Given the description of an element on the screen output the (x, y) to click on. 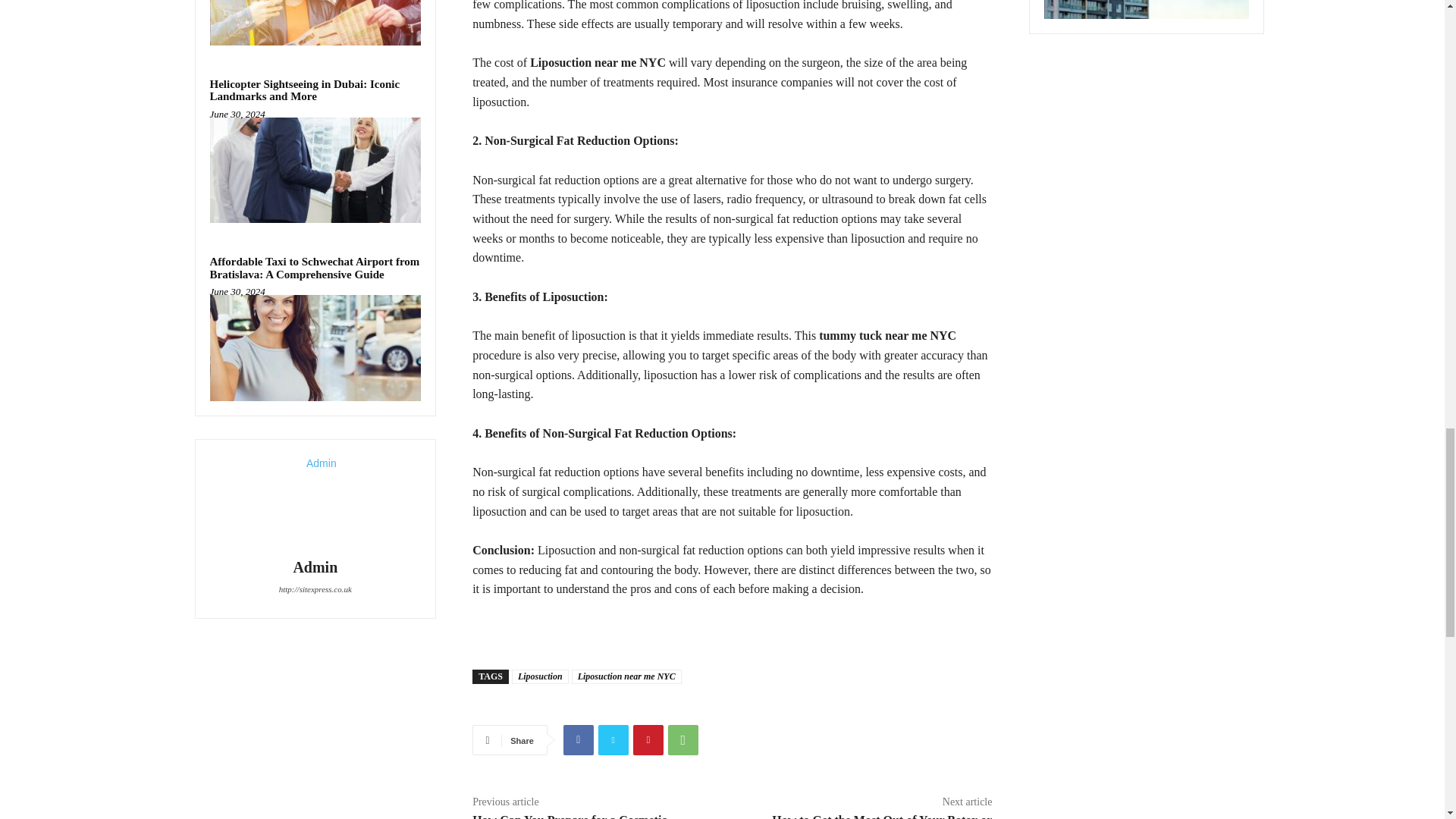
Helicopter Sightseeing in Dubai: Iconic Landmarks and More (303, 90)
